Given the description of an element on the screen output the (x, y) to click on. 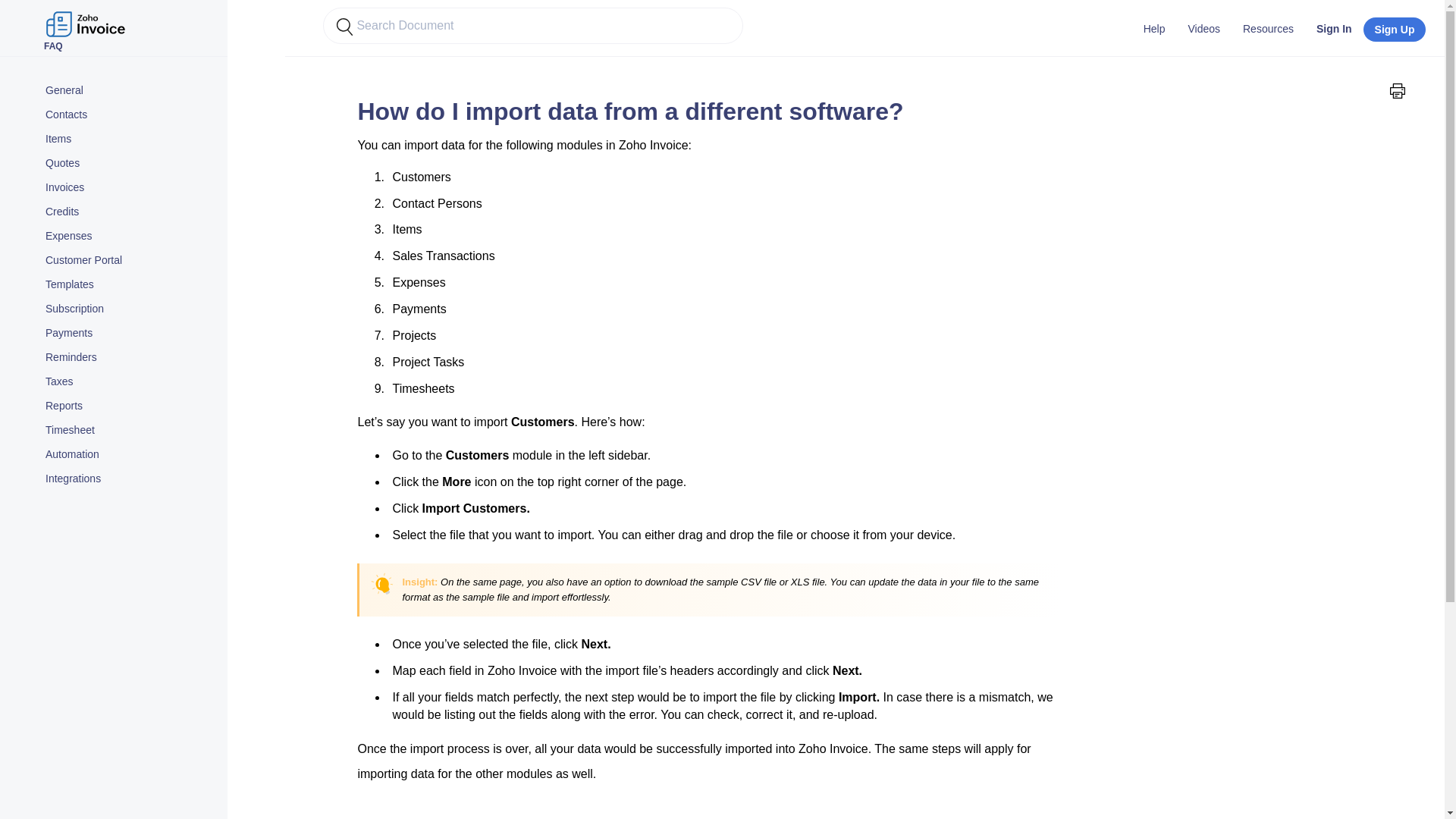
Templates (129, 284)
Contacts (129, 115)
Taxes (129, 382)
Items (129, 138)
Automation (129, 454)
Sign In (1333, 28)
Videos (1203, 28)
Invoices (129, 187)
Credits (129, 211)
Subscription (129, 309)
